Given the description of an element on the screen output the (x, y) to click on. 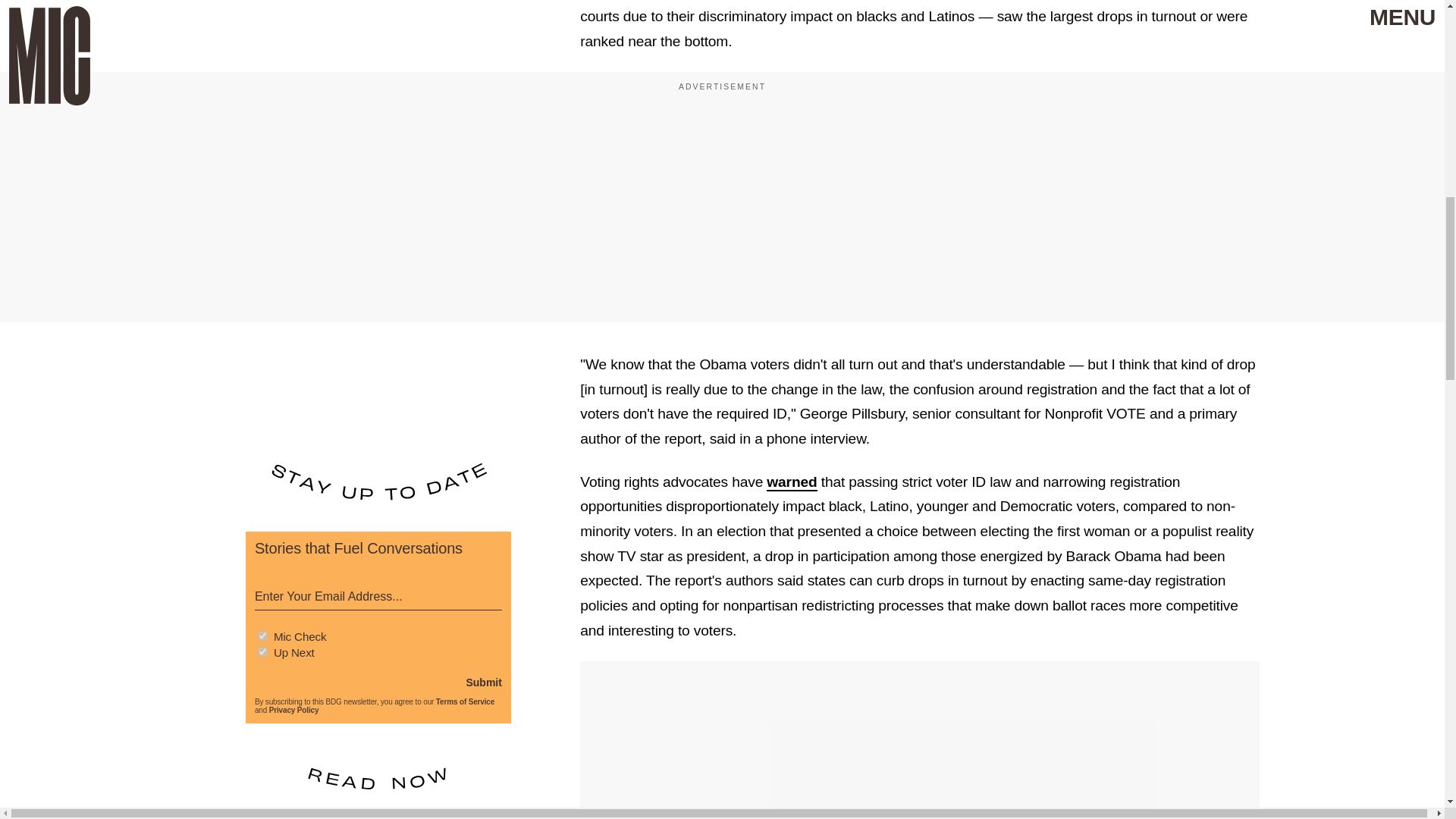
warned (791, 482)
Submit (482, 680)
Terms of Service (465, 700)
Privacy Policy (293, 709)
